Given the description of an element on the screen output the (x, y) to click on. 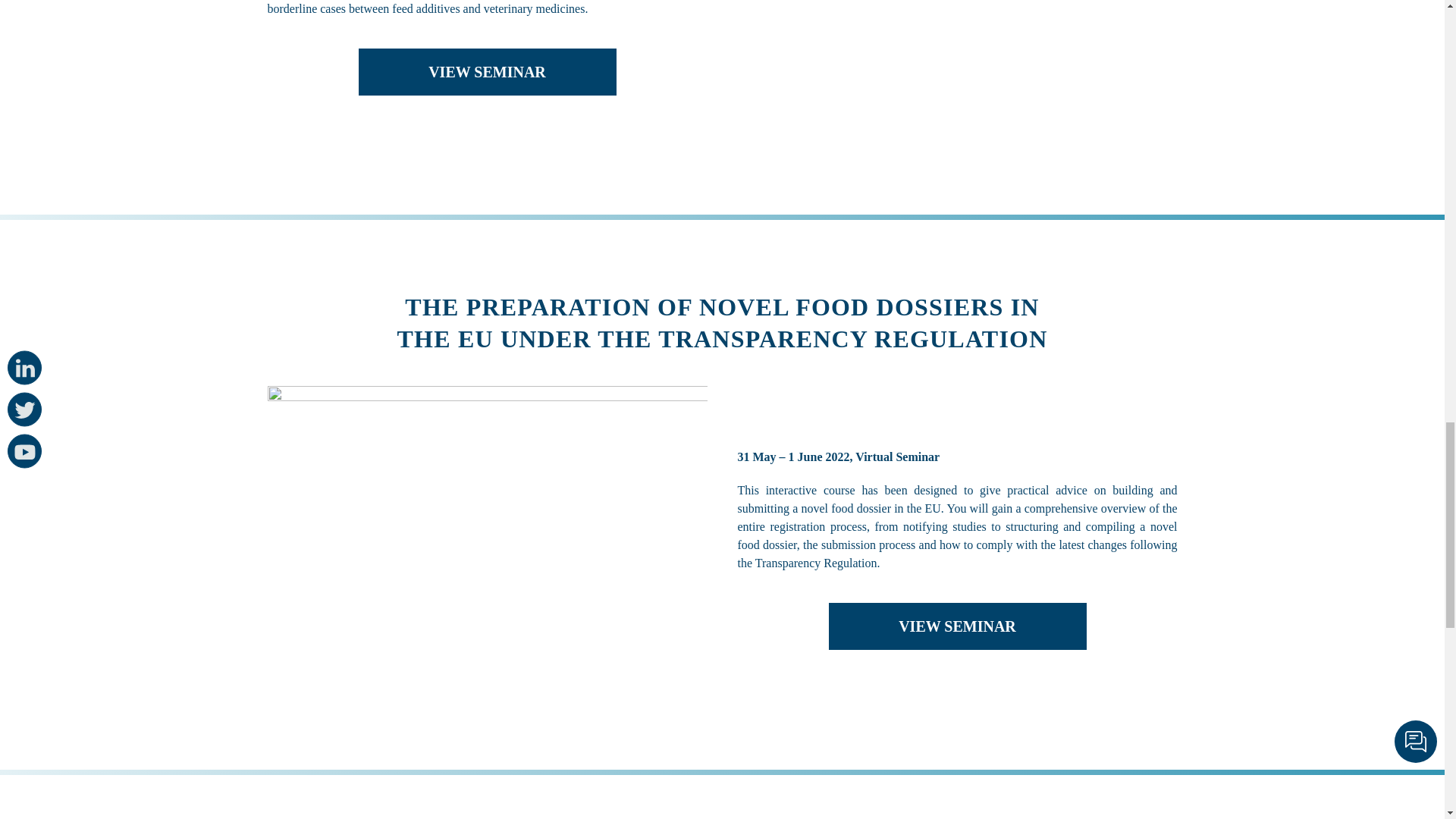
VIEW SEMINAR (486, 71)
VIEW SEMINAR (957, 626)
